Given the description of an element on the screen output the (x, y) to click on. 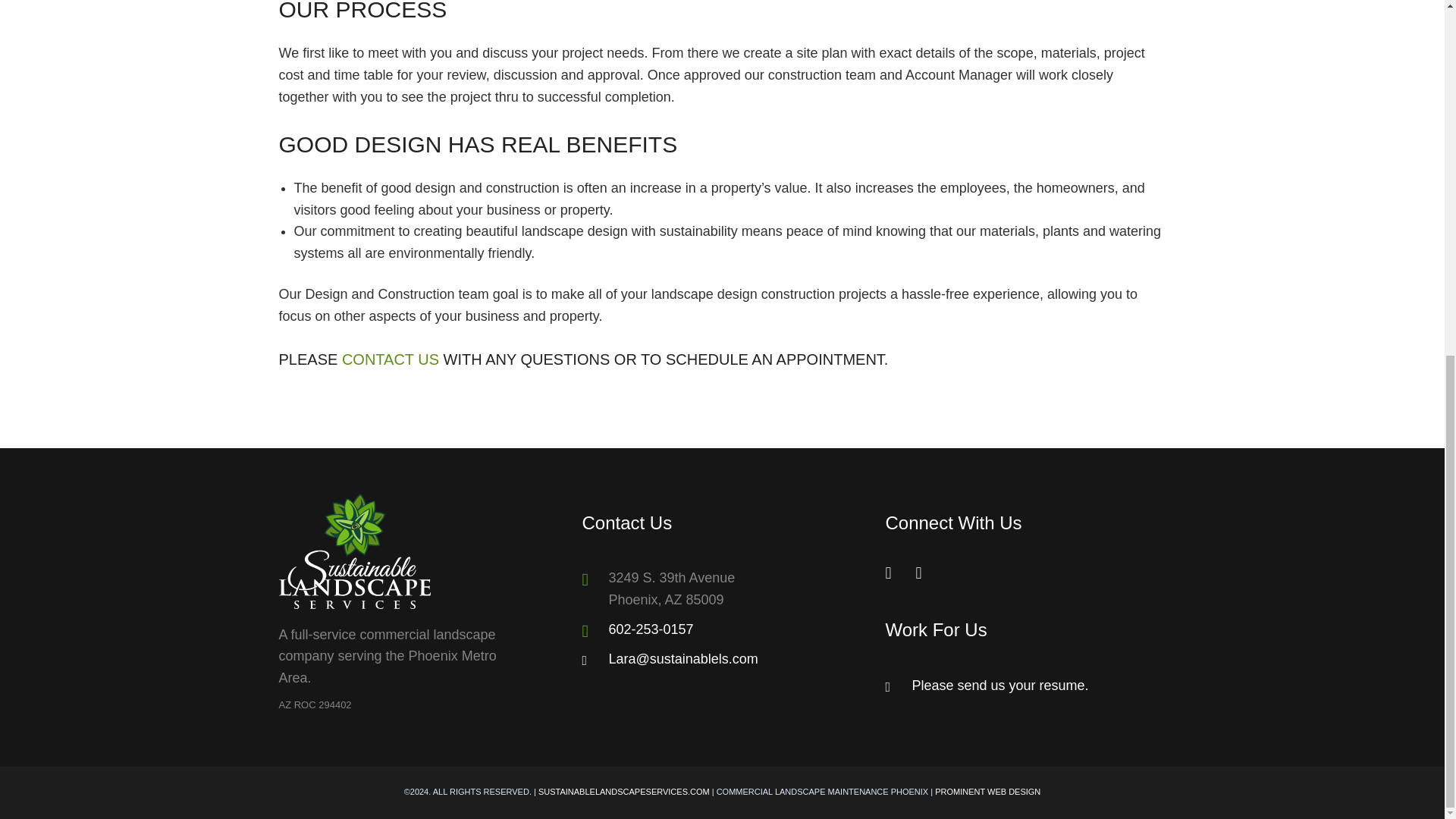
PROMINENT WEB DESIGN (987, 791)
CONTACT US (390, 359)
602-253-0157 (650, 629)
Please send us your resume. (999, 685)
SUSTAINABLELANDSCAPESERVICES.COM (624, 791)
Scottsdale Web Design (987, 791)
